Given the description of an element on the screen output the (x, y) to click on. 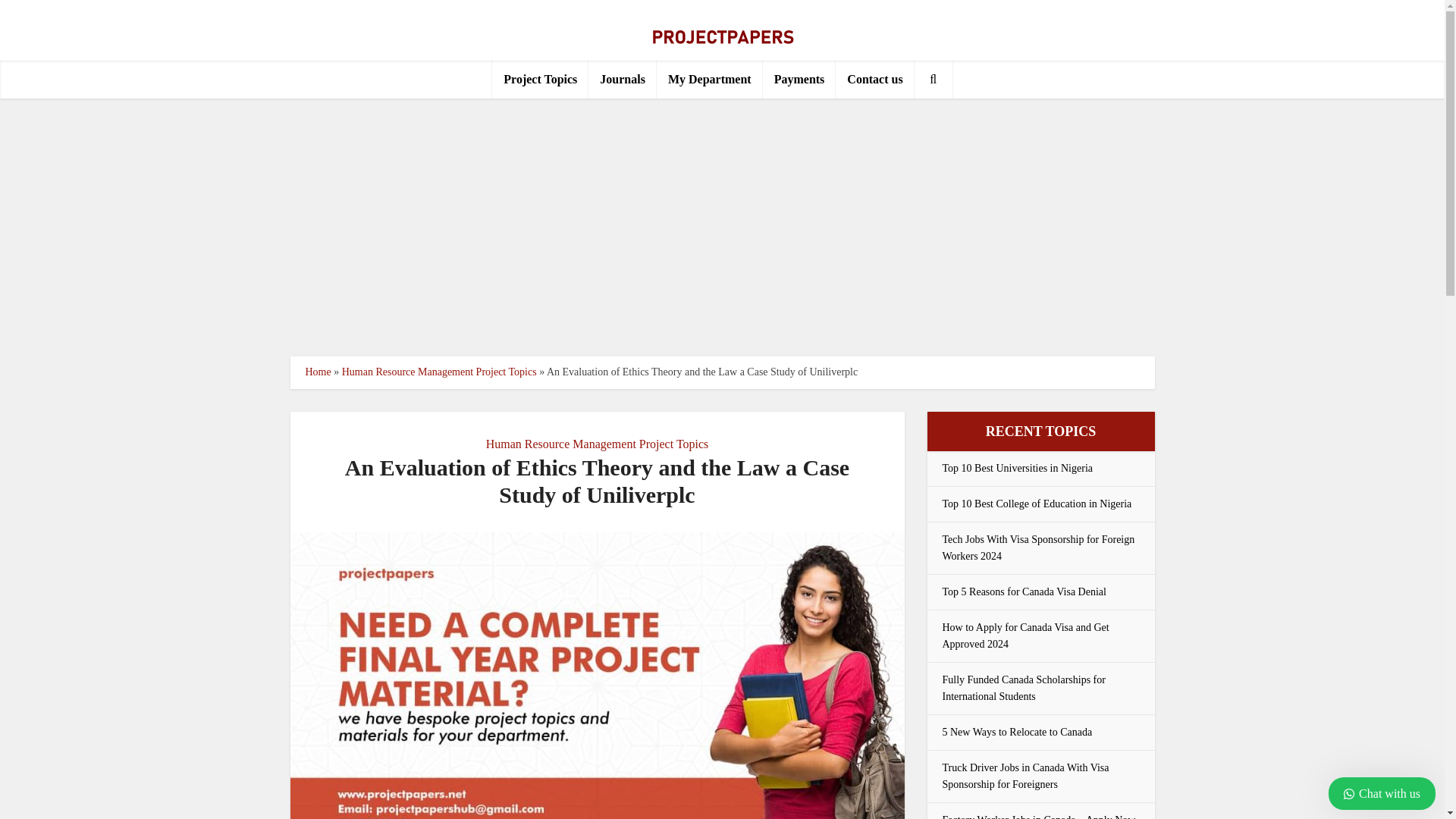
Tech Jobs With Visa Sponsorship for Foreign Workers 2024 (1038, 547)
Contact us (874, 79)
Human Resource Management Project Topics (597, 443)
Home (317, 371)
5 New Ways to Relocate to Canada (1017, 731)
Advertisement (721, 227)
How to Apply for Canada Visa and Get Approved 2024 (1025, 635)
Top 10 Best Universities in Nigeria (1017, 468)
Project Topics (540, 79)
